Given the description of an element on the screen output the (x, y) to click on. 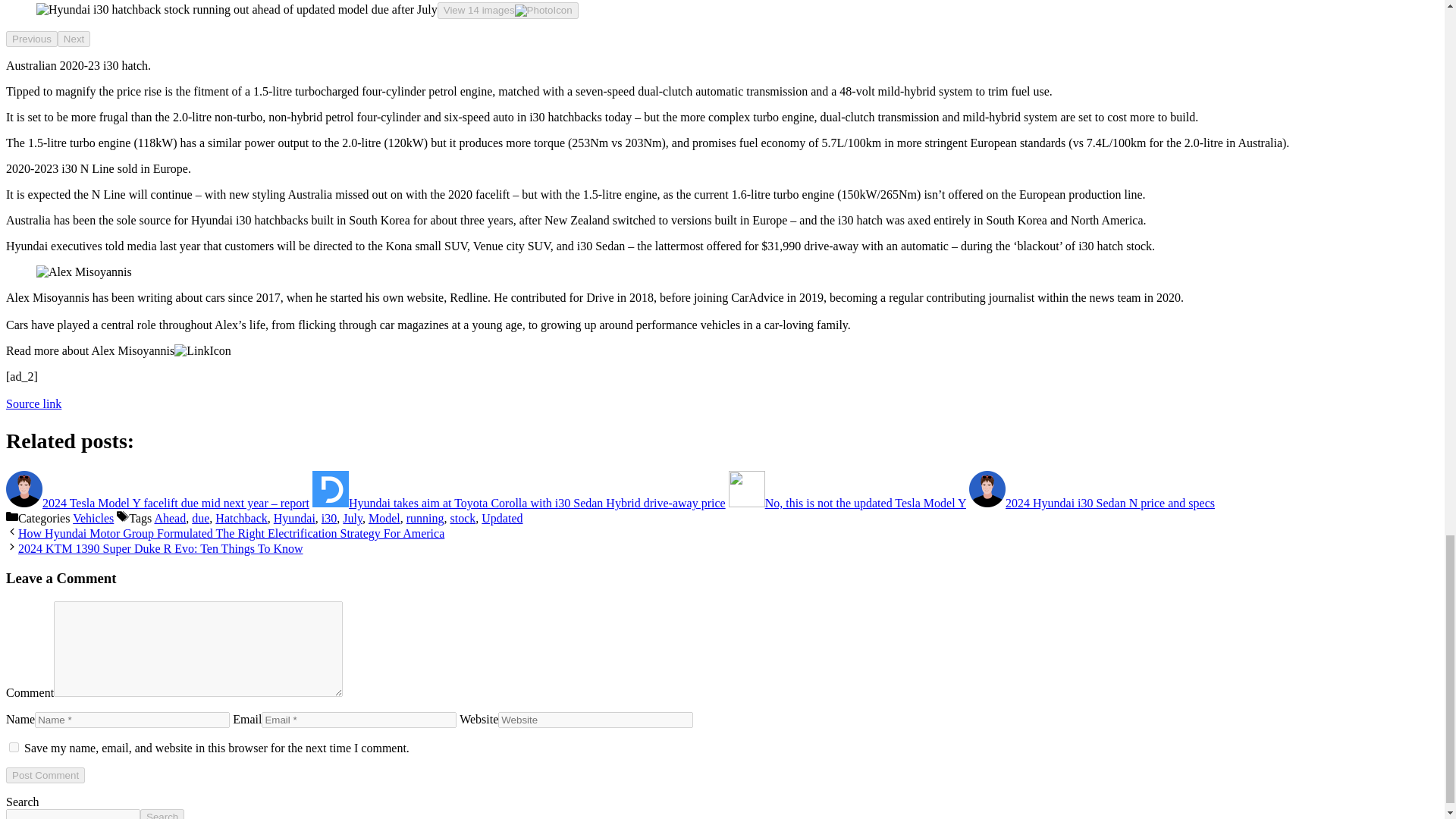
2024 Hyundai i30 Sedan N price and specs (1091, 502)
No, this is not the updated Tesla Model Y (847, 502)
Post Comment (44, 774)
yes (13, 747)
